Given the description of an element on the screen output the (x, y) to click on. 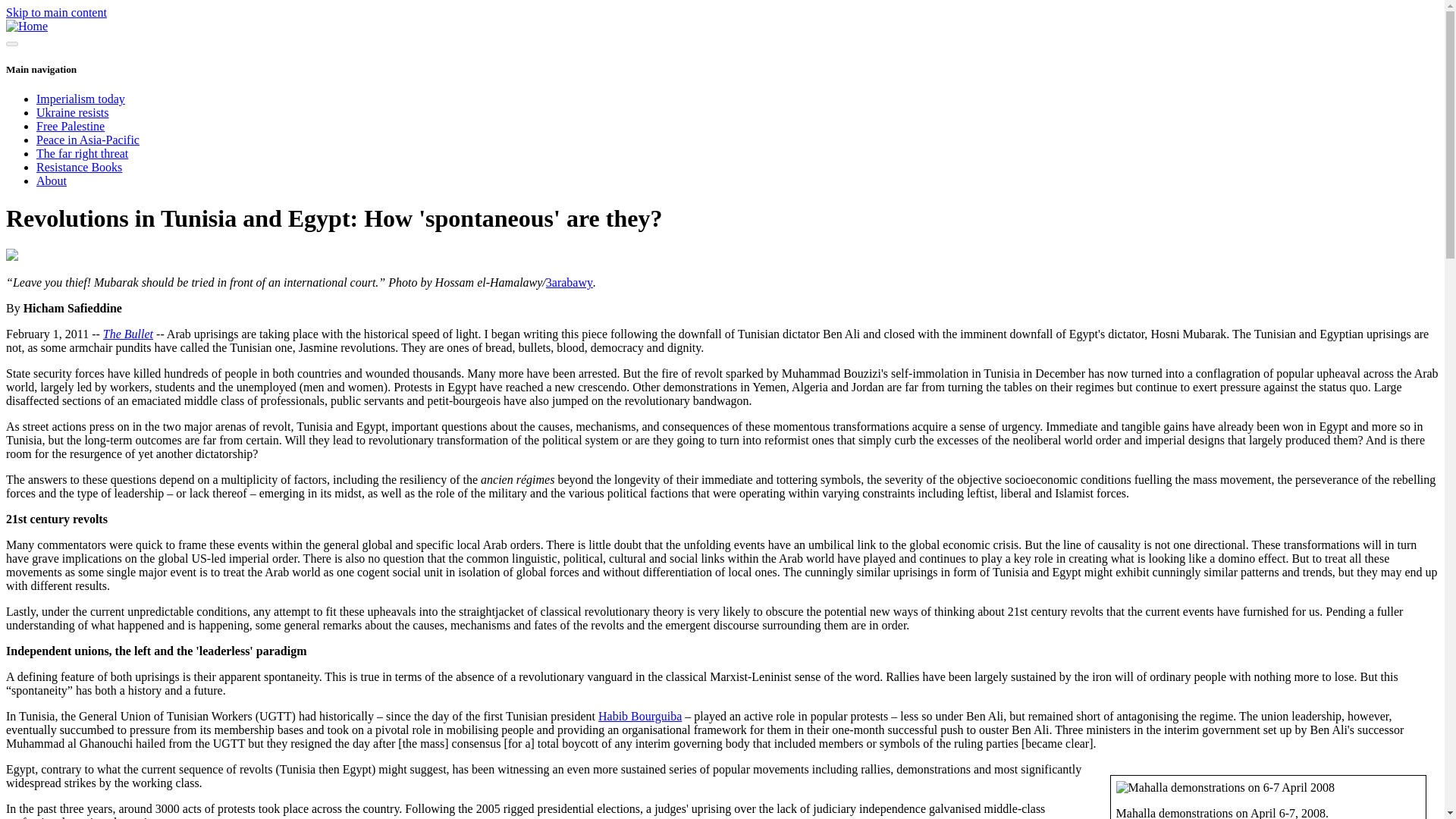
Resistance Books (79, 166)
3arabawy (569, 282)
About (51, 180)
Free Palestine (70, 125)
Peace in Asia-Pacific (87, 139)
About (51, 180)
The far right threat (82, 153)
Skip to main content (55, 11)
Ukraine resists (72, 112)
Home (26, 25)
Understanding Putin's war on Ukraine (72, 112)
Imperialism today (80, 98)
Resistance Books (79, 166)
Habib Bourguiba (639, 716)
The Bullet (127, 333)
